Given the description of an element on the screen output the (x, y) to click on. 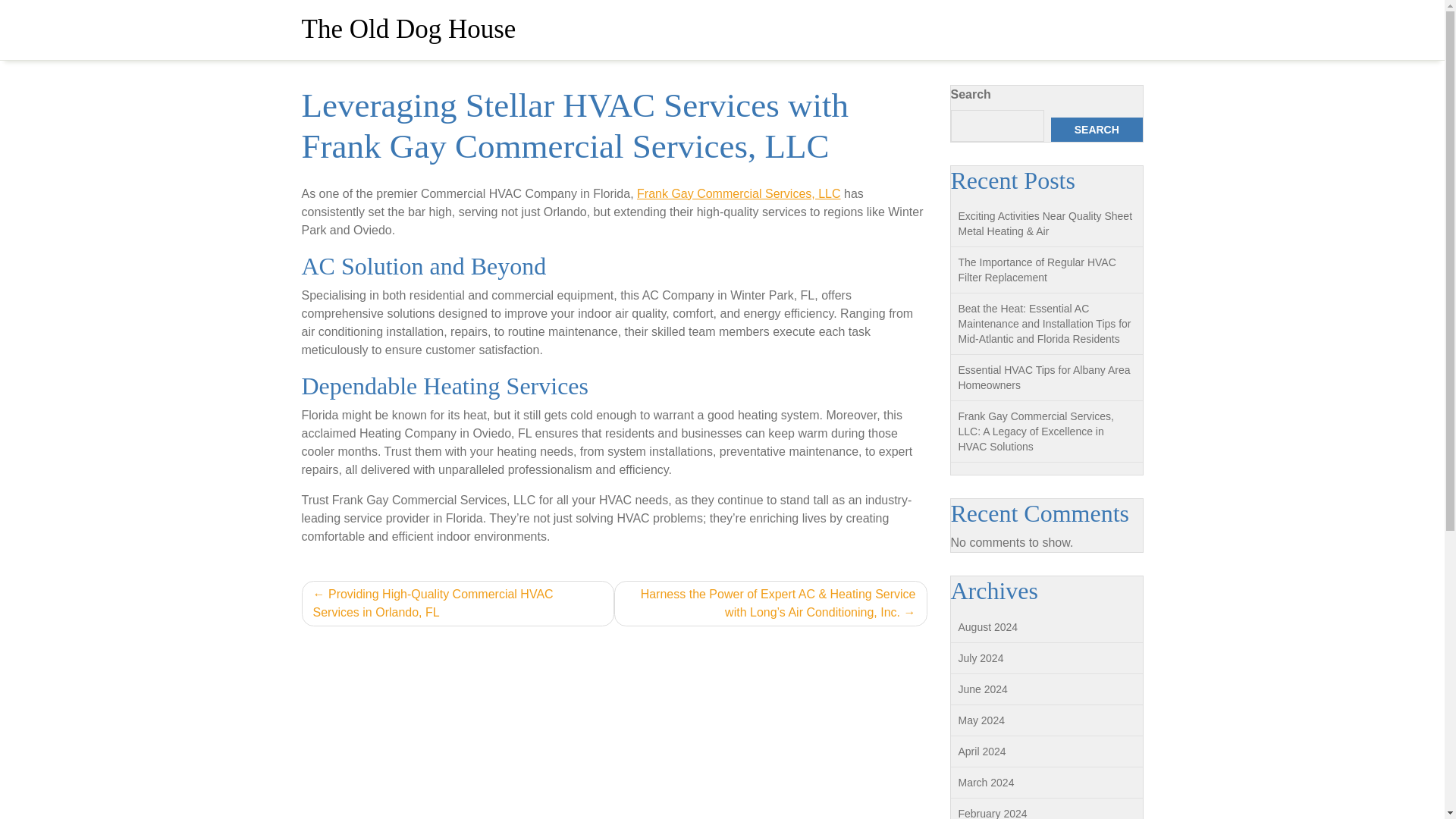
The Old Dog House (408, 29)
June 2024 (982, 689)
July 2024 (981, 657)
August 2024 (987, 626)
Essential HVAC Tips for Albany Area Homeowners (1044, 377)
March 2024 (986, 782)
SEARCH (1096, 128)
April 2024 (982, 751)
February 2024 (992, 813)
May 2024 (981, 720)
The Importance of Regular HVAC Filter Replacement (1037, 269)
Frank Gay Commercial Services, LLC (739, 192)
